Given the description of an element on the screen output the (x, y) to click on. 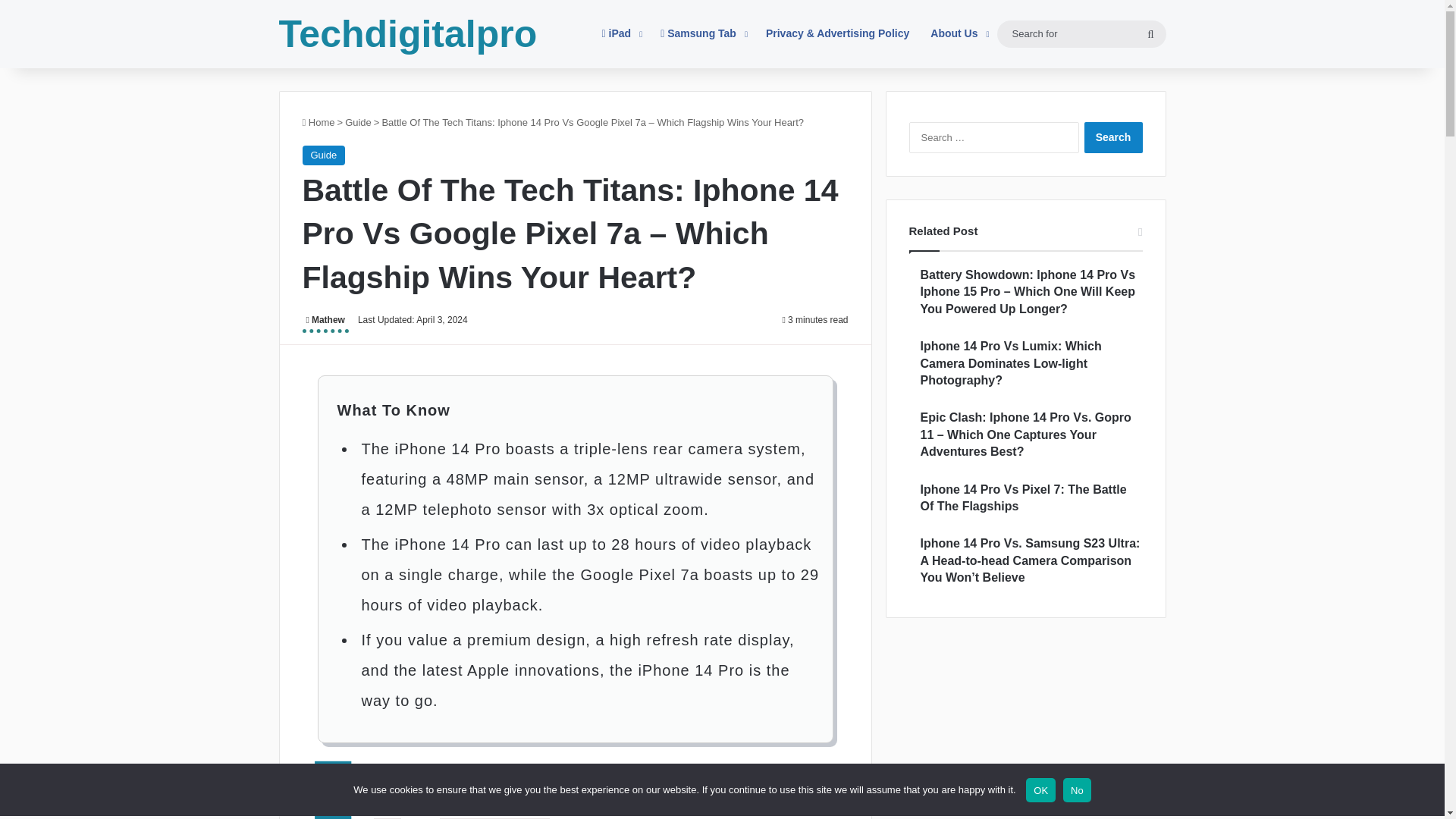
Mathew (324, 321)
Guide (323, 155)
Techdigitalpro (408, 34)
Guide (358, 122)
Mathew (324, 321)
Techdigitalpro (408, 34)
Samsung Tab (702, 33)
About Us (957, 33)
Search (1113, 137)
Home (317, 122)
